Given the description of an element on the screen output the (x, y) to click on. 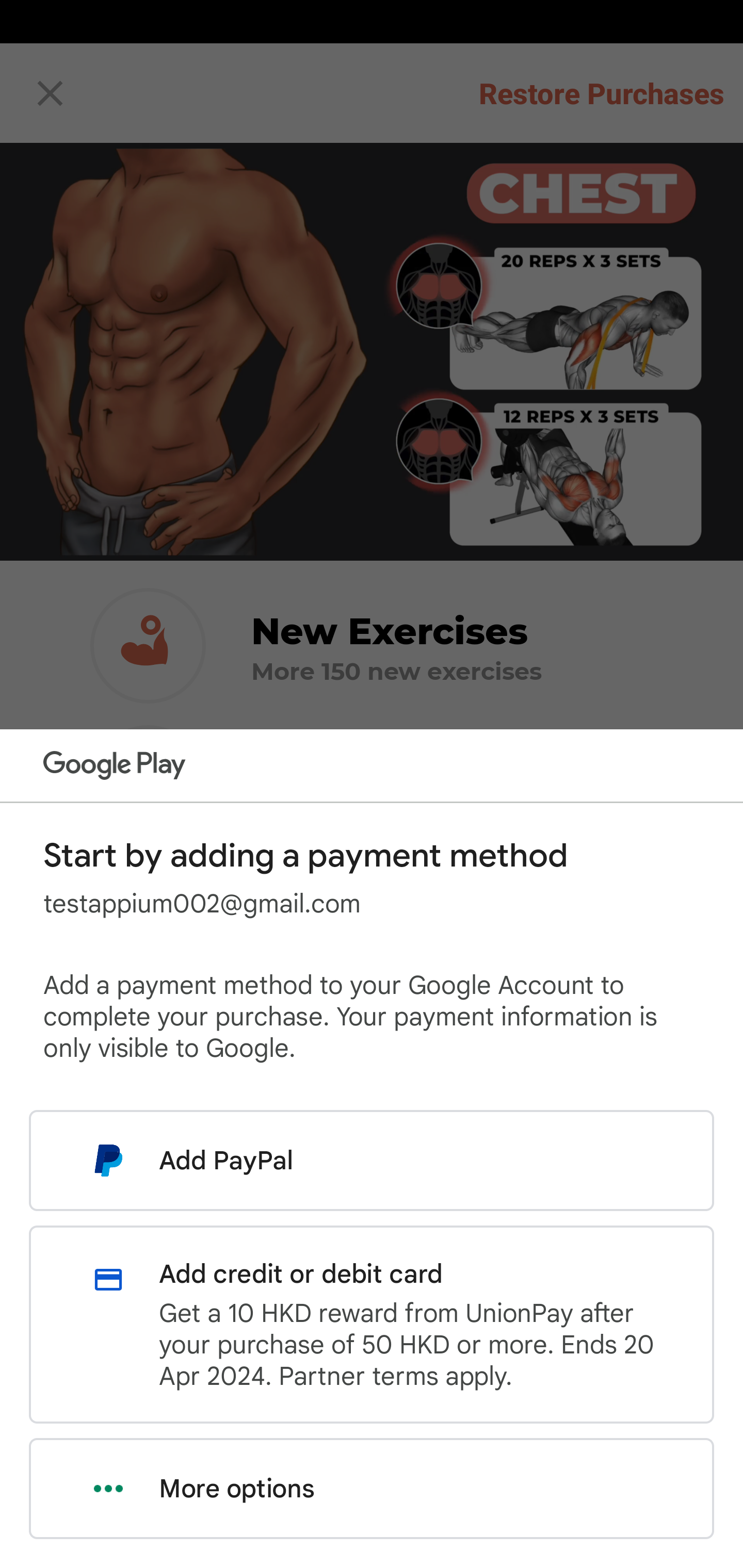
Add PayPal (371, 1160)
More options (371, 1488)
